Given the description of an element on the screen output the (x, y) to click on. 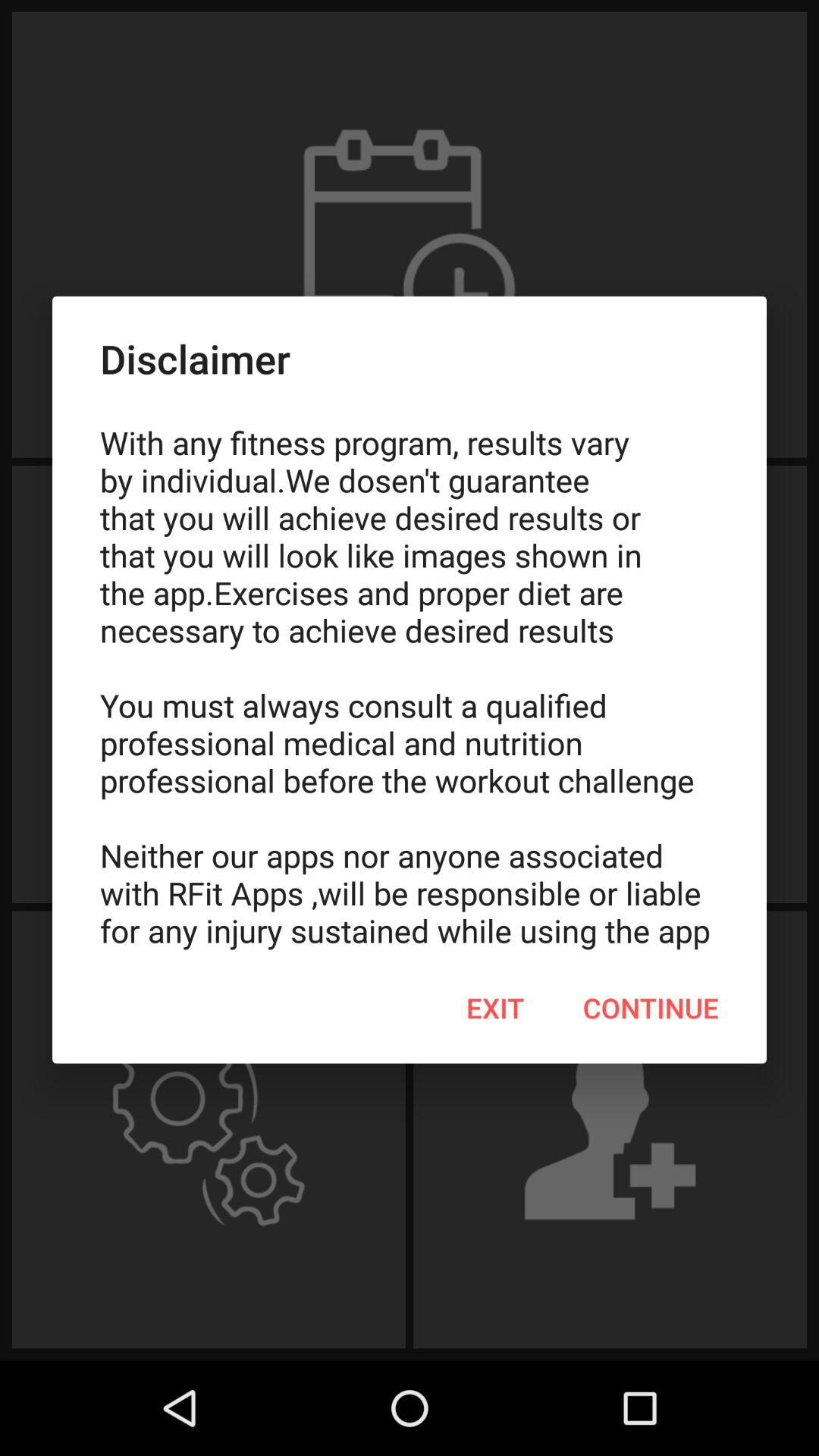
scroll until the exit icon (495, 1007)
